Given the description of an element on the screen output the (x, y) to click on. 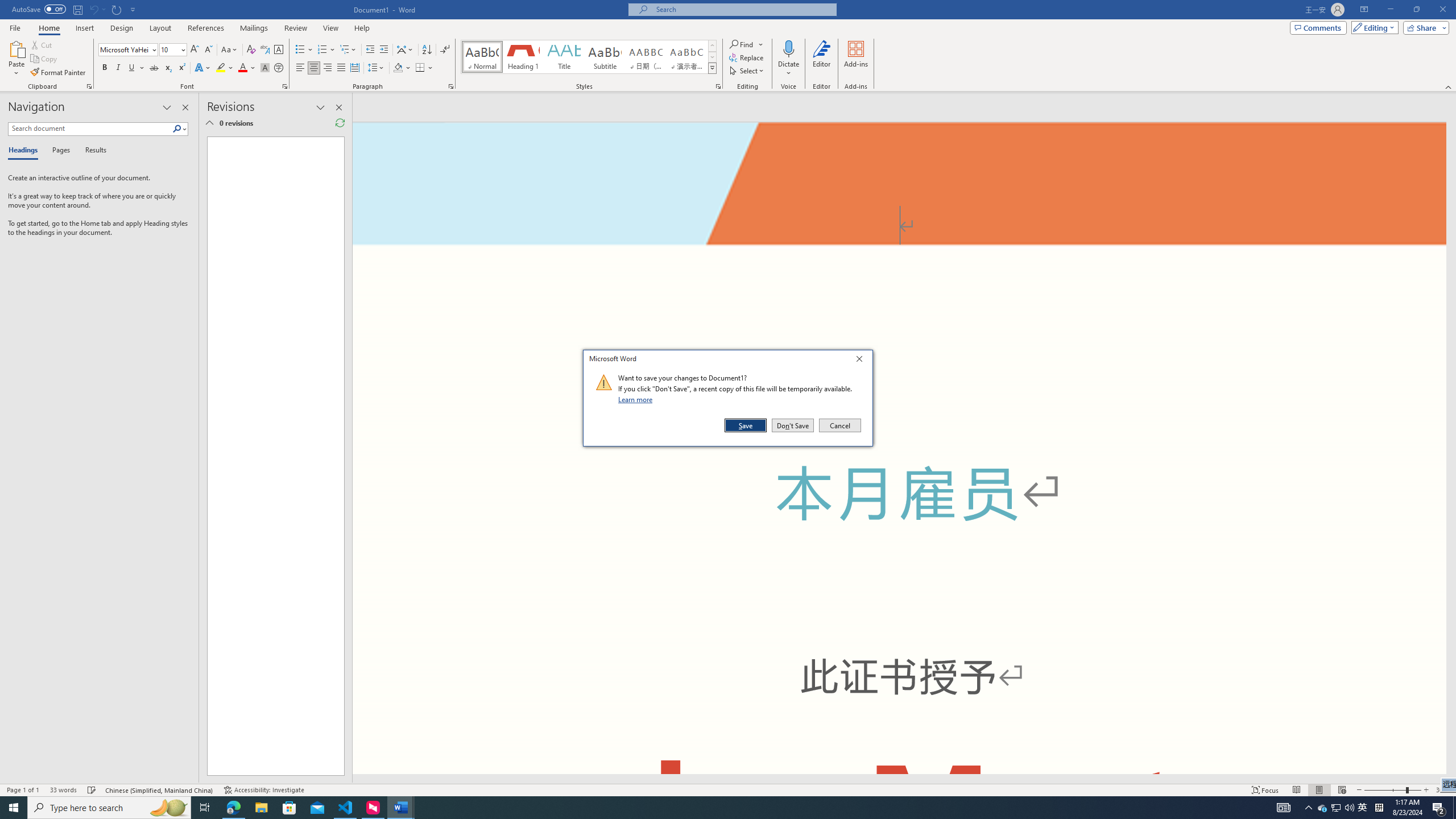
Font... (285, 85)
Italic (118, 67)
Shrink Font (208, 49)
Superscript (180, 67)
Action Center, 2 new notifications (1439, 807)
Align Right (327, 67)
Asian Layout (405, 49)
Microsoft Edge - 1 running window (233, 807)
Zoom (1392, 790)
